Given the description of an element on the screen output the (x, y) to click on. 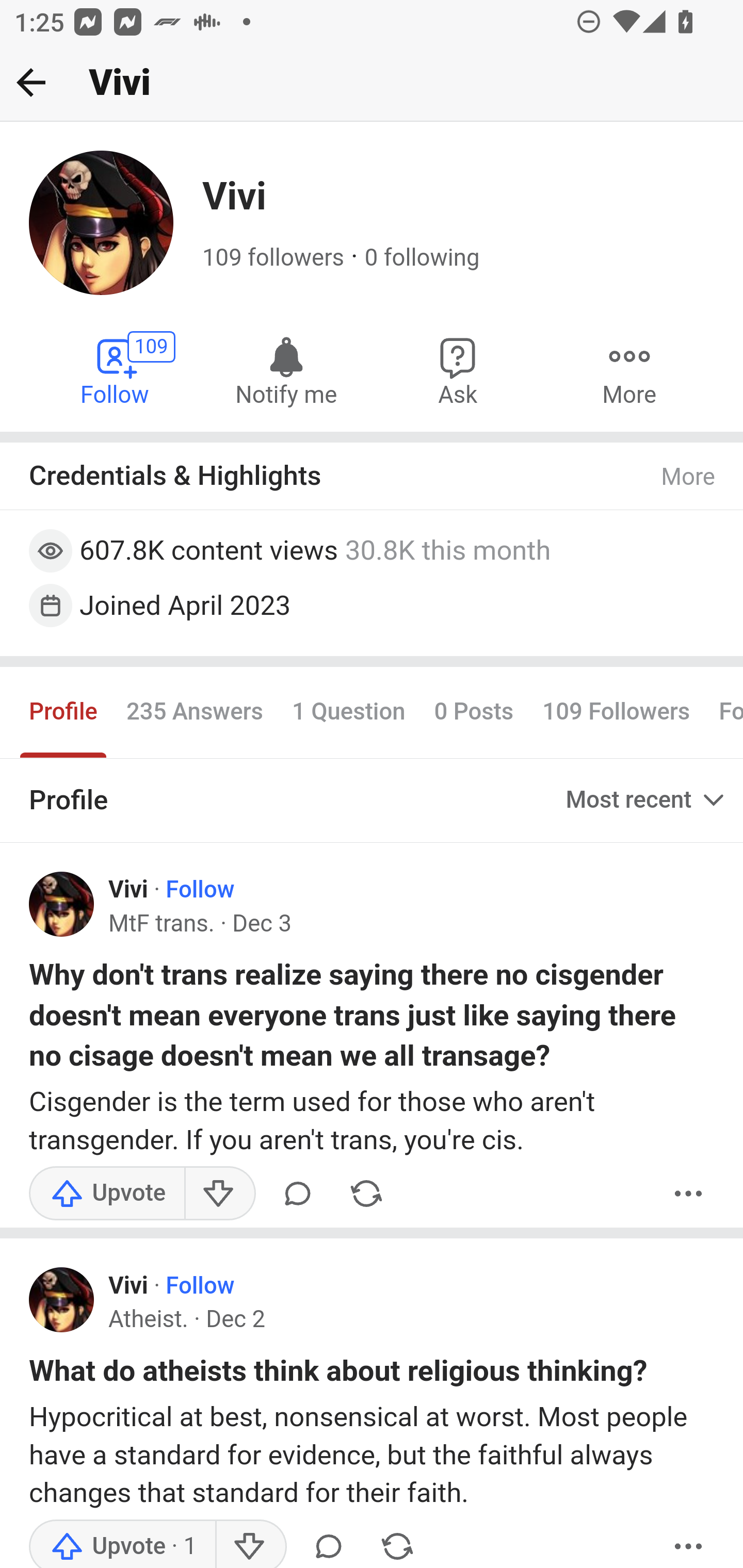
Back (30, 82)
109 followers (273, 257)
0 following (421, 257)
Follow Vivi 109 Follow (115, 370)
Notify me (285, 370)
Ask (458, 370)
More (628, 370)
More (688, 477)
Profile (63, 712)
235 Answers (193, 712)
1 Question (348, 712)
0 Posts (474, 712)
109 Followers (616, 712)
Most recent (647, 799)
Profile photo for Vivi (61, 903)
Vivi (127, 889)
Follow (199, 889)
Upvote (106, 1193)
Downvote (219, 1193)
Comment (297, 1193)
Share (366, 1193)
More (688, 1193)
Profile photo for Vivi (61, 1299)
Vivi (127, 1286)
Follow (199, 1286)
Upvote (122, 1543)
Downvote (249, 1543)
Comment (328, 1543)
Share (397, 1543)
More (688, 1543)
